Given the description of an element on the screen output the (x, y) to click on. 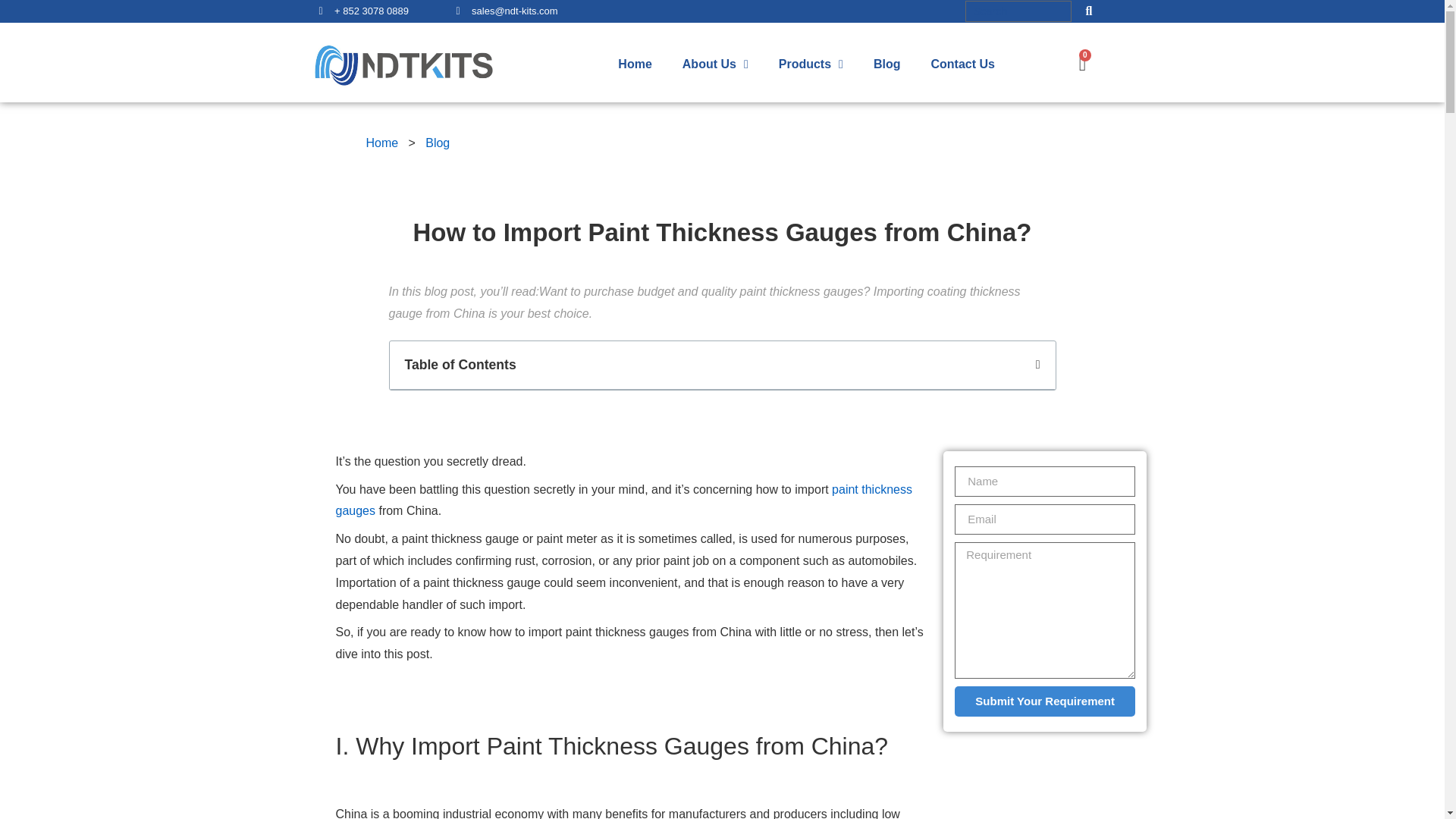
Home (381, 142)
Products (810, 64)
Home (634, 64)
Blog (887, 64)
About Us (714, 64)
Blog (437, 142)
Search (1018, 11)
Contact Us (962, 64)
Search (1088, 11)
